Given the description of an element on the screen output the (x, y) to click on. 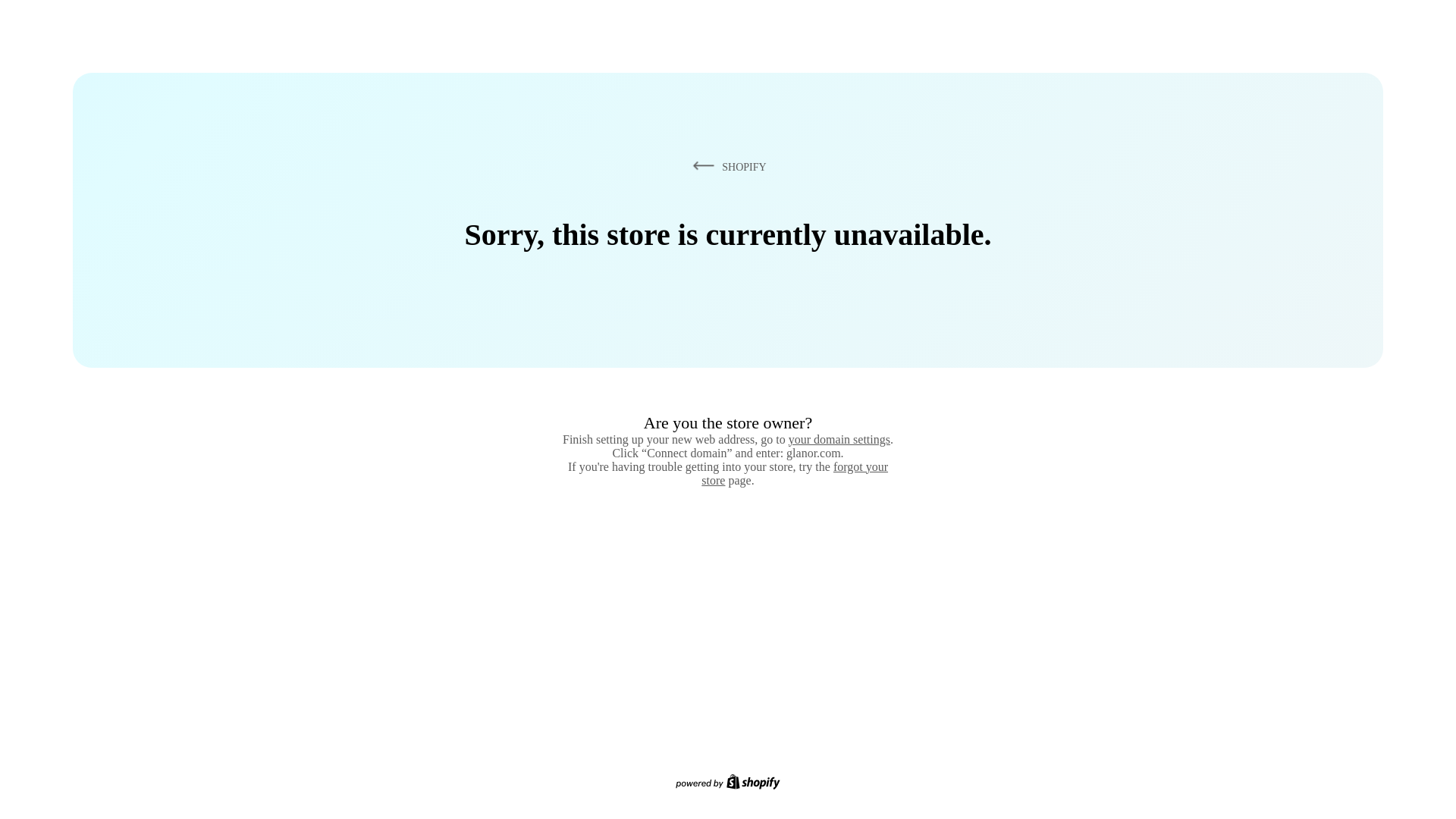
forgot your store (794, 473)
your domain settings (839, 439)
SHOPIFY (726, 166)
